Given the description of an element on the screen output the (x, y) to click on. 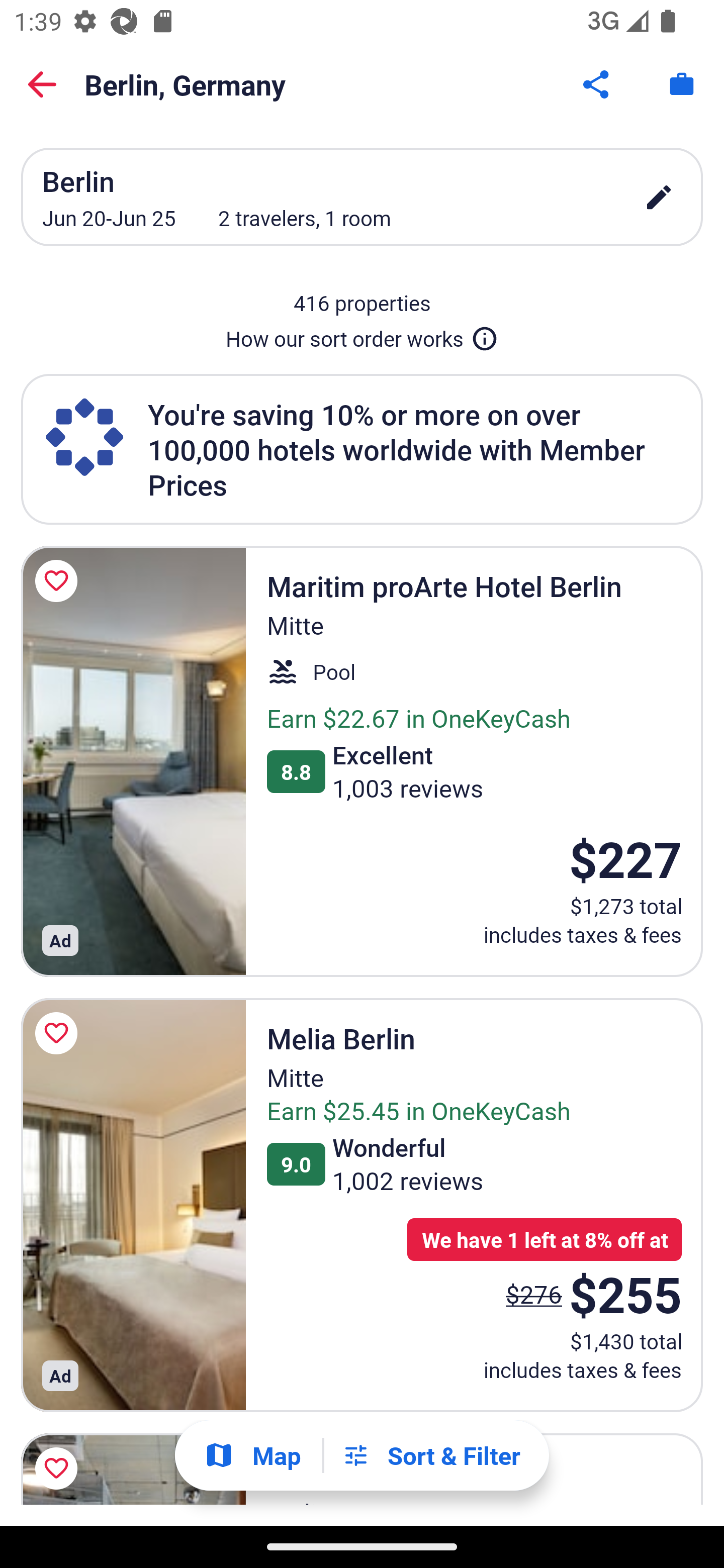
Back (42, 84)
Share Button (597, 84)
Trips. Button (681, 84)
Berlin Jun 20-Jun 25 2 travelers, 1 room edit (361, 196)
How our sort order works (361, 334)
Save Maritim proArte Hotel Berlin to a trip (59, 580)
Maritim proArte Hotel Berlin (133, 760)
Save Melia Berlin to a trip (59, 1032)
Melia Berlin (133, 1205)
$276 The price was $276 (533, 1293)
Filters Sort & Filter Filters Button (430, 1455)
Save URBAN LOFT Berlin to a trip (59, 1465)
Show map Map Show map Button (252, 1455)
